Given the description of an element on the screen output the (x, y) to click on. 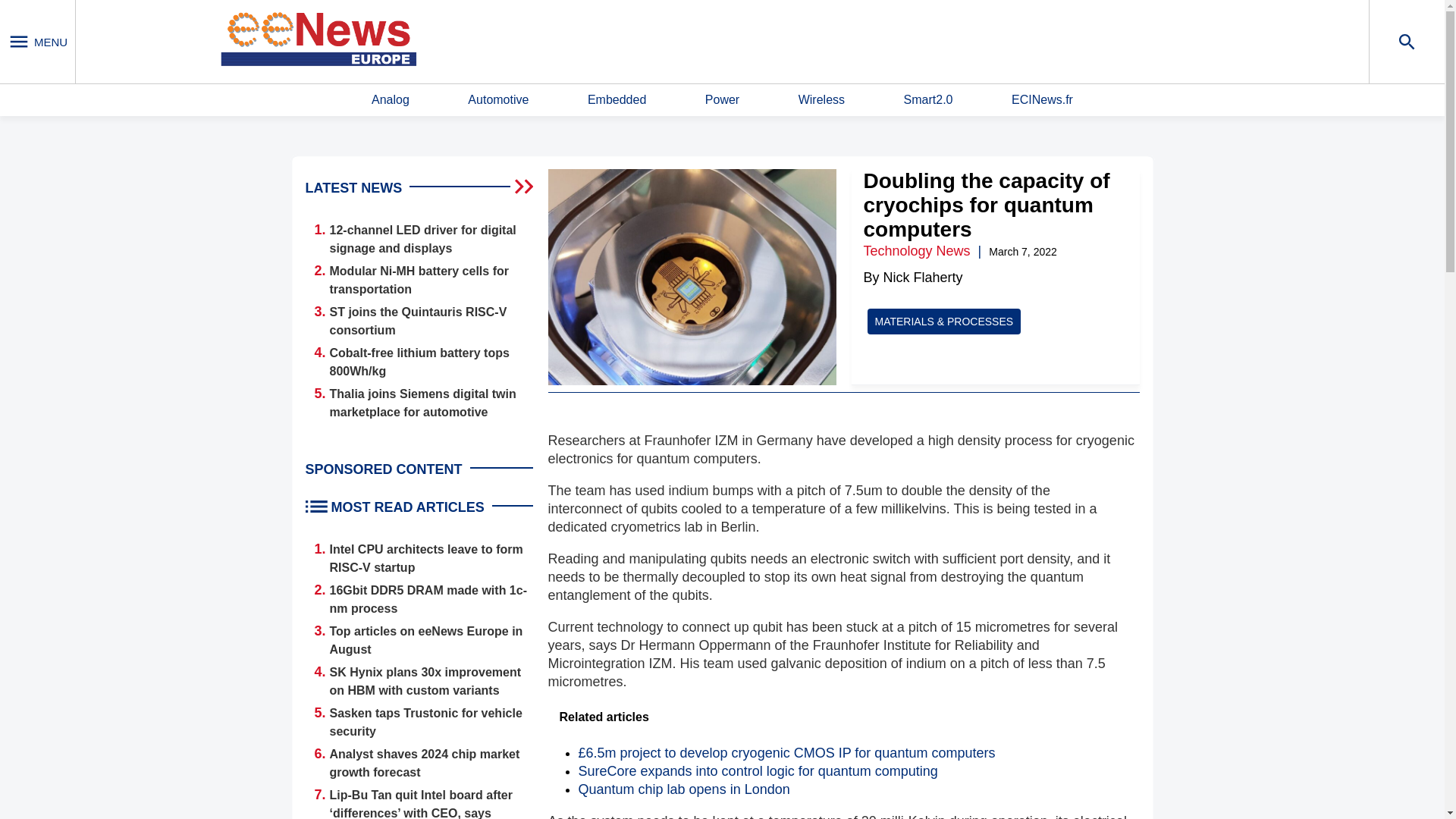
Power (721, 99)
Smart2.0 (928, 99)
ECINews.fr (1042, 99)
Wireless (820, 99)
Automotive (497, 99)
Embedded (617, 99)
Analog (390, 99)
